Given the description of an element on the screen output the (x, y) to click on. 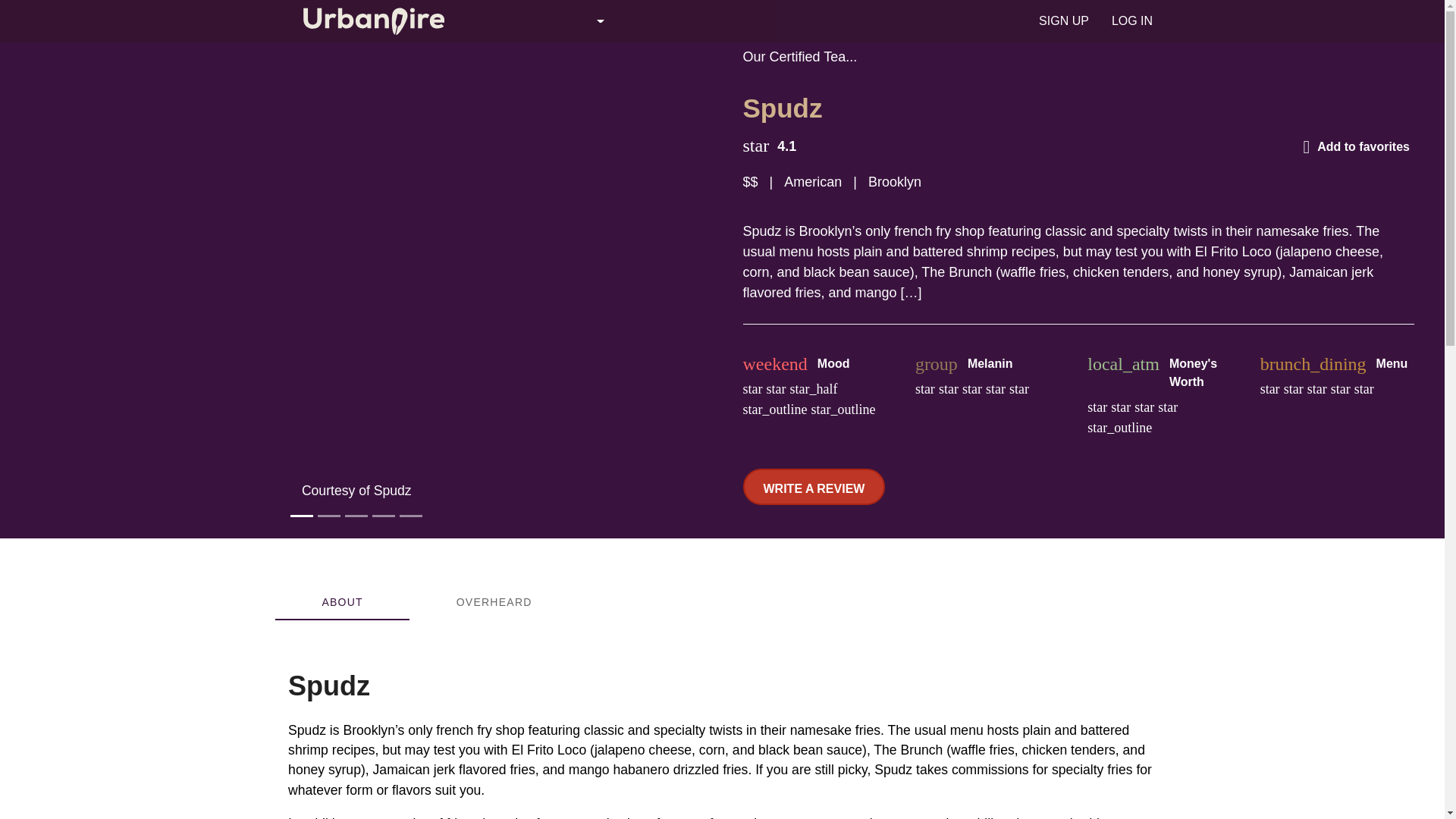
SIGN UP (426, 601)
WRITE A REVIEW (426, 601)
Urbanoire (1097, 21)
LOG IN (1063, 21)
